Given the description of an element on the screen output the (x, y) to click on. 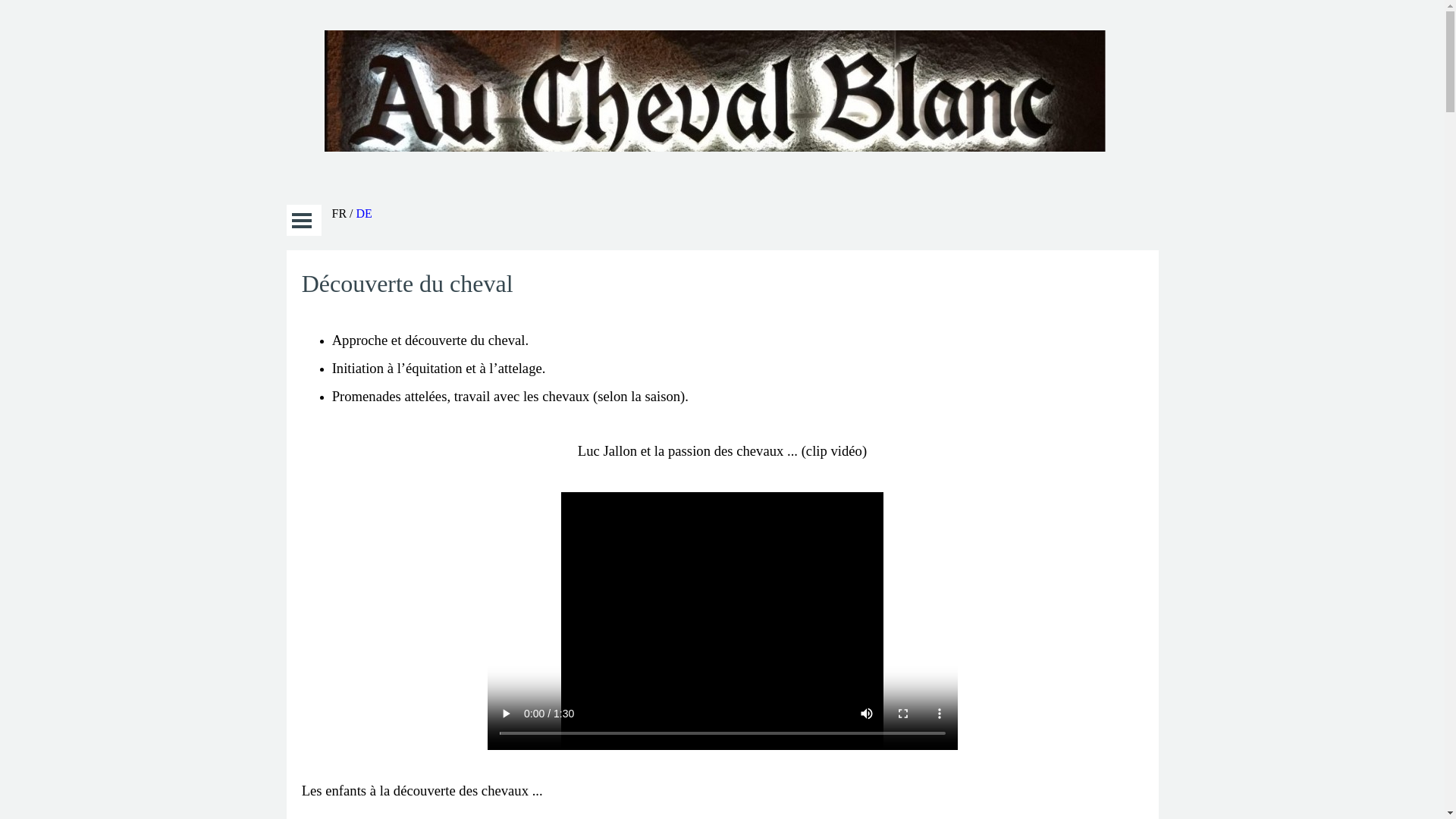
DE Element type: text (364, 213)
